Given the description of an element on the screen output the (x, y) to click on. 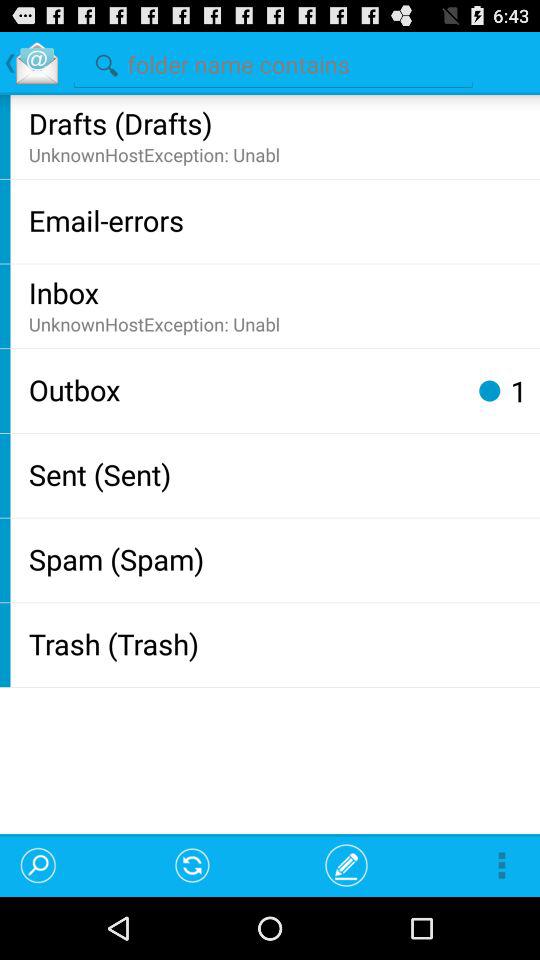
search folder names (273, 61)
